Given the description of an element on the screen output the (x, y) to click on. 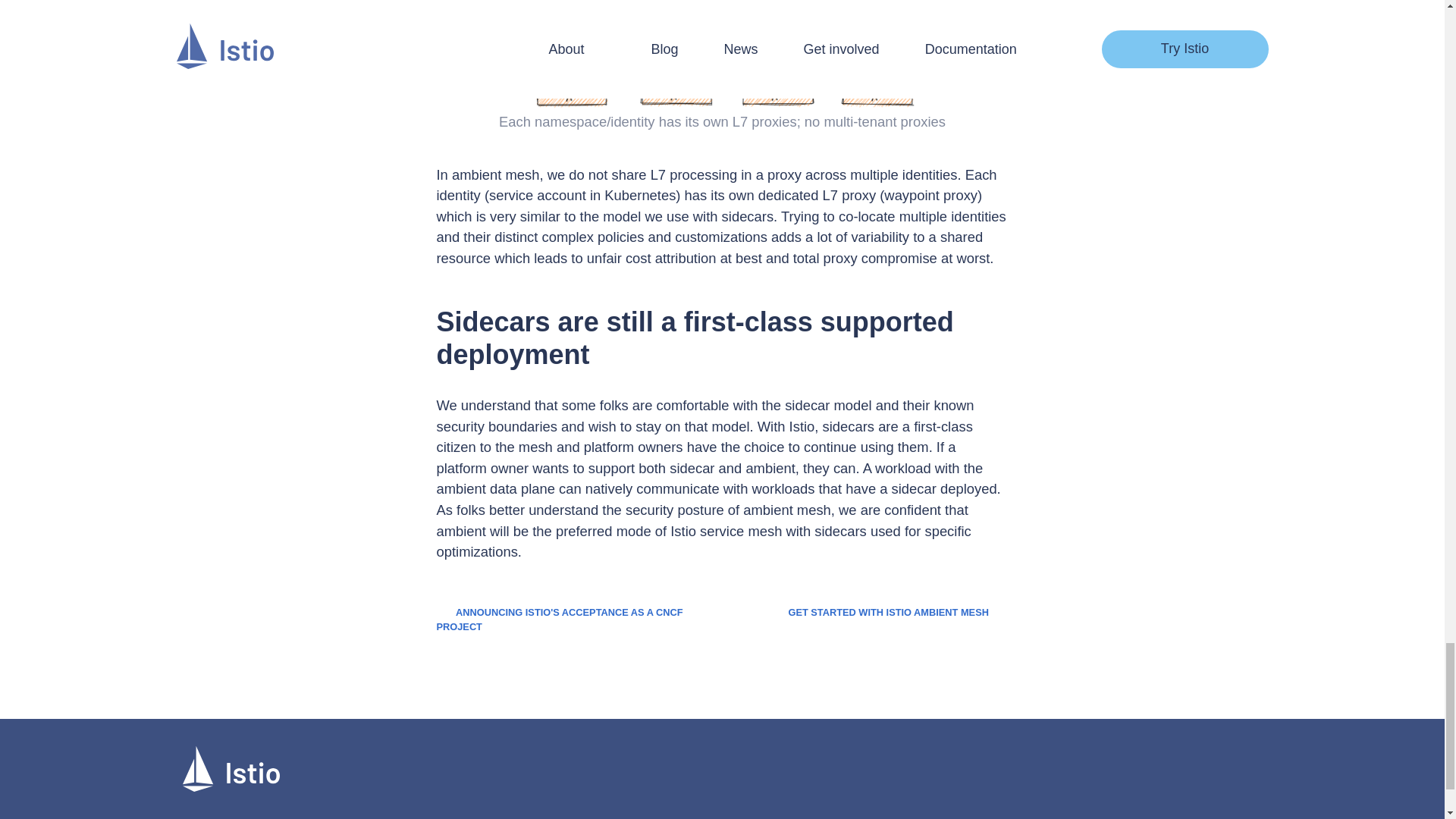
ANNOUNCING ISTIO'S ACCEPTANCE AS A CNCF PROJECT (559, 619)
Step by step guide to get started with Istio ambient mesh. (897, 612)
GET STARTED WITH ISTIO AMBIENT MESH (897, 612)
